Given the description of an element on the screen output the (x, y) to click on. 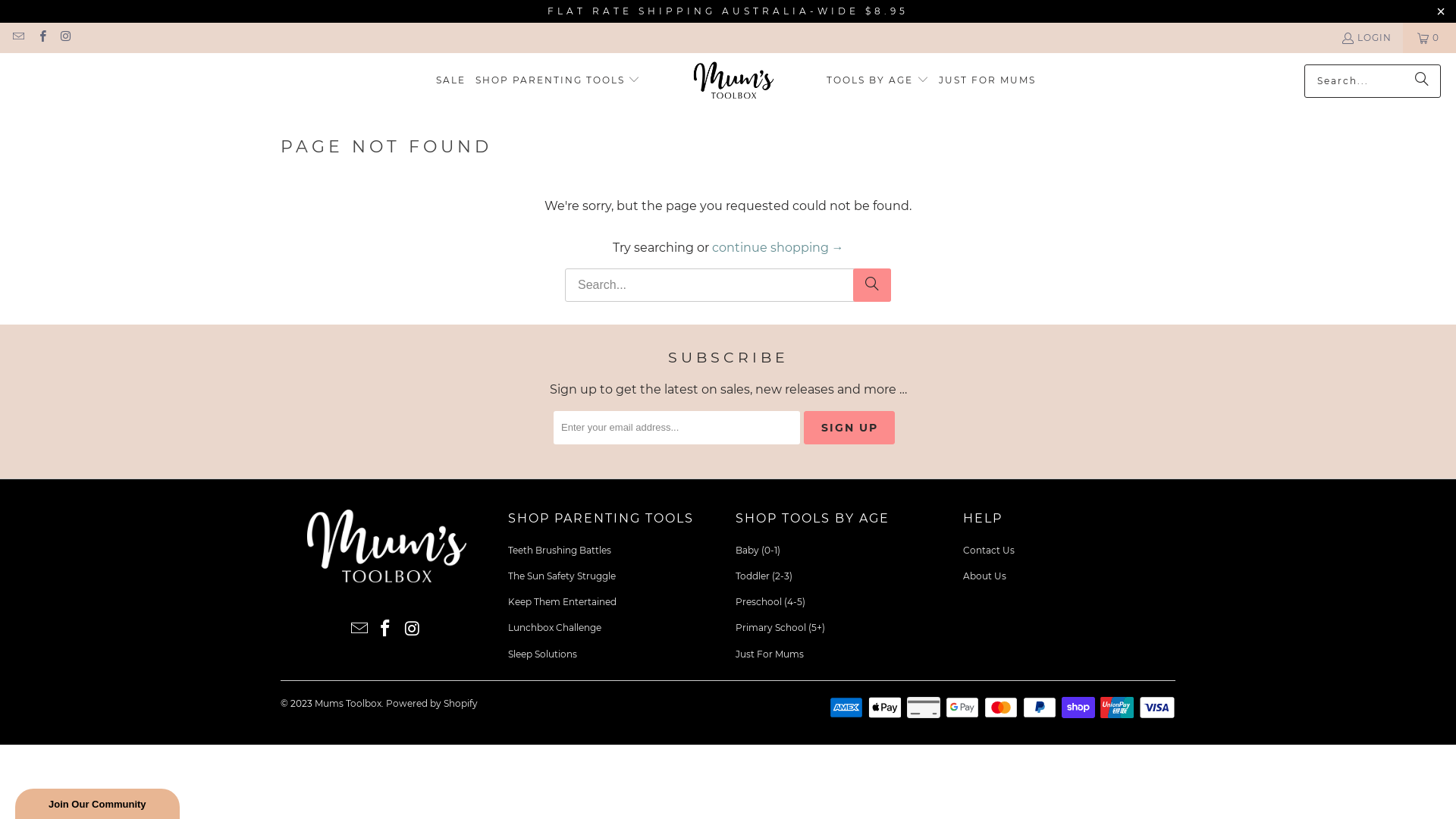
Powered by Shopify Element type: text (431, 703)
Mums Toolbox on Facebook Element type: hover (40, 37)
Email Mums Toolbox Element type: hover (17, 37)
Lunchbox Challenge Element type: text (554, 627)
Preschool (4-5) Element type: text (770, 601)
JUST FOR MUMS Element type: text (986, 80)
Teeth Brushing Battles Element type: text (559, 549)
Sign Up Element type: text (848, 427)
Sleep Solutions Element type: text (542, 653)
Mums Toolbox Element type: hover (733, 80)
LOGIN Element type: text (1365, 37)
Email Mums Toolbox Element type: hover (359, 629)
SALE Element type: text (450, 80)
Contact Us Element type: text (988, 549)
Just For Mums Element type: text (769, 653)
Mums Toolbox on Instagram Element type: hover (65, 37)
Mums Toolbox Element type: text (347, 703)
The Sun Safety Struggle Element type: text (561, 575)
Primary School (5+) Element type: text (780, 627)
Mums Toolbox on Instagram Element type: hover (412, 629)
Toddler (2-3) Element type: text (763, 575)
Mums Toolbox on Facebook Element type: hover (385, 629)
Keep Them Entertained Element type: text (562, 601)
Baby (0-1) Element type: text (757, 549)
About Us Element type: text (984, 575)
